Given the description of an element on the screen output the (x, y) to click on. 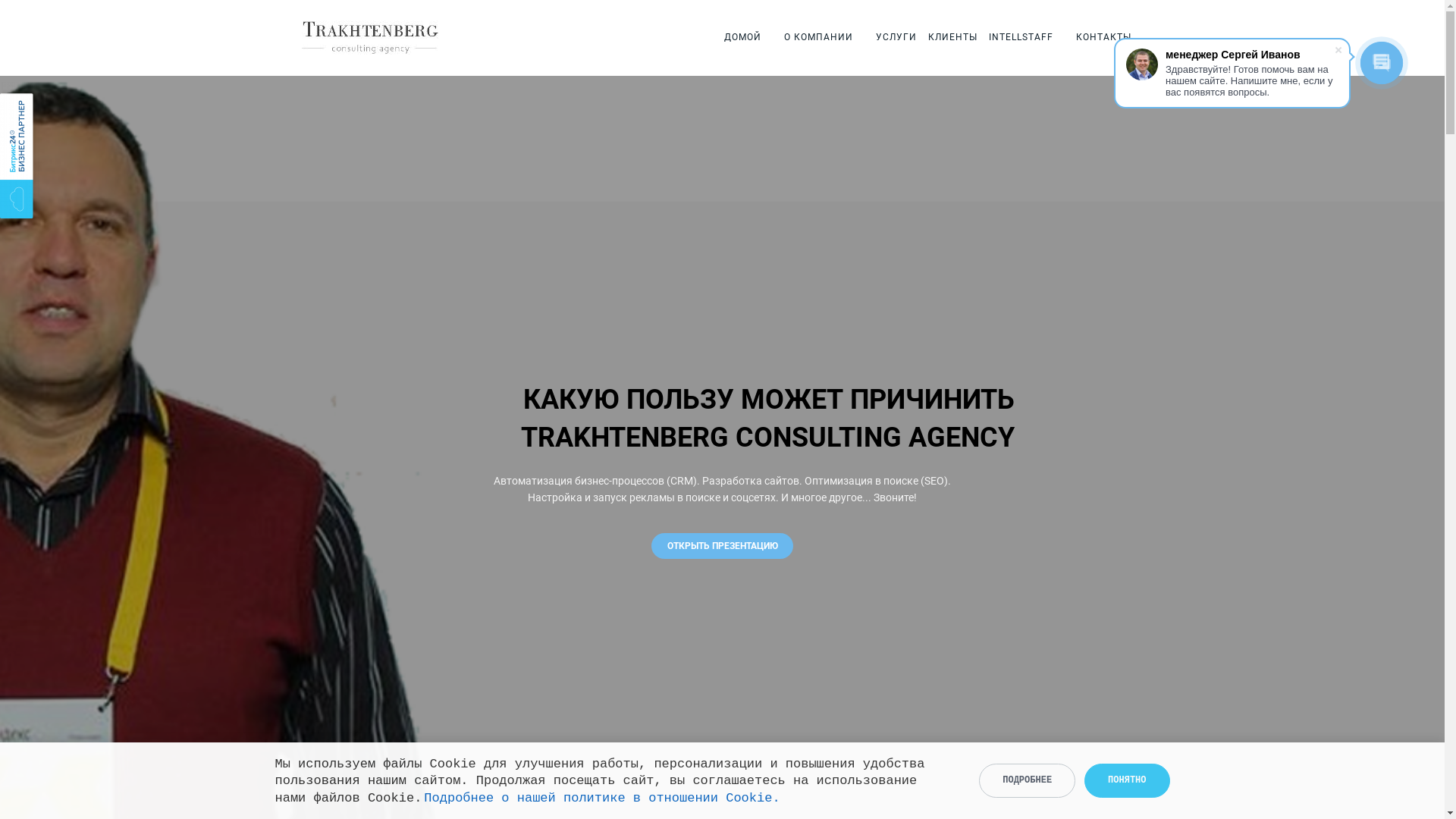
INTELLSTAFF Element type: text (1020, 37)
